Given the description of an element on the screen output the (x, y) to click on. 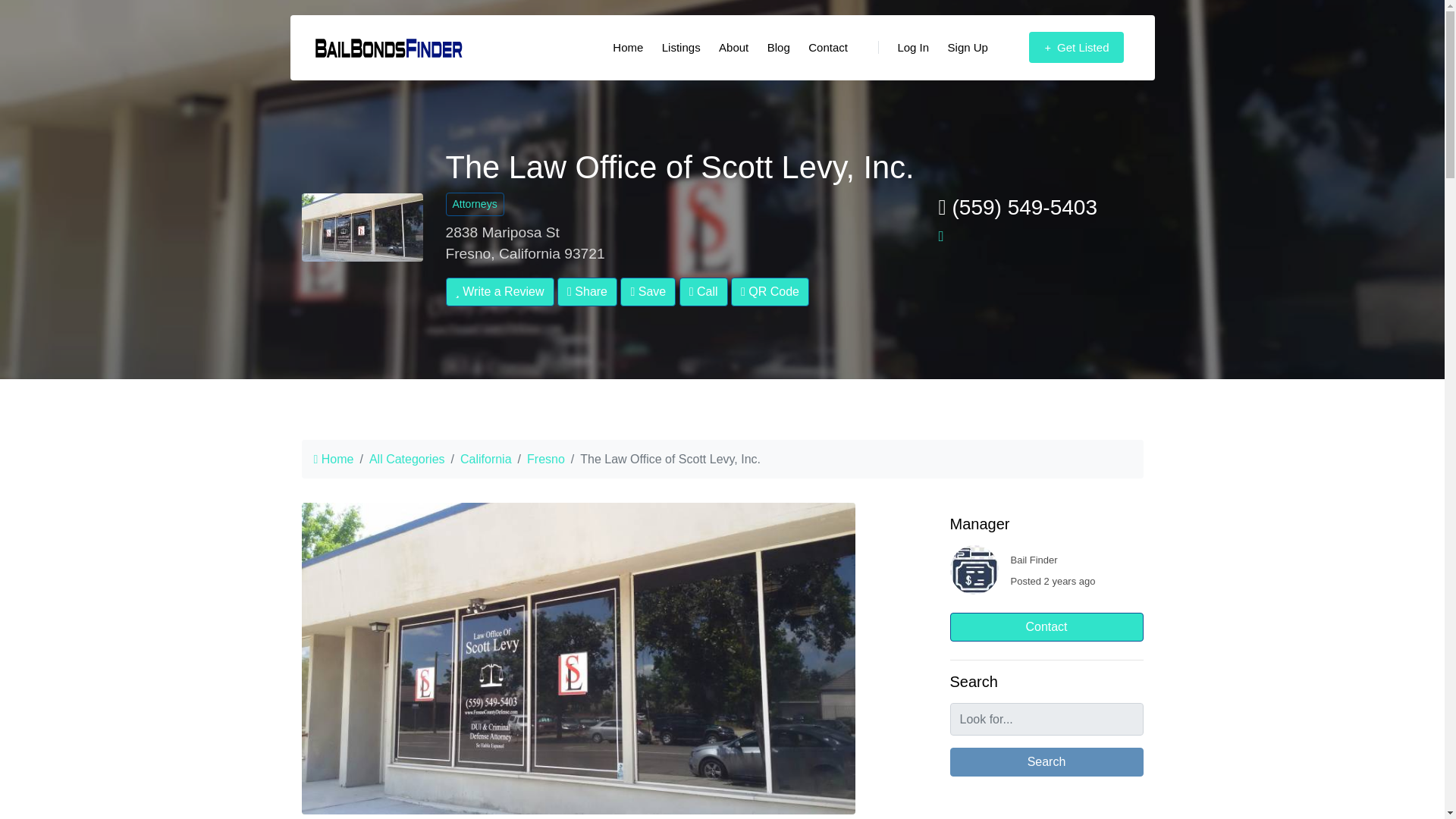
Contact (828, 47)
Home (333, 459)
Call (703, 291)
Share (587, 291)
Save (647, 291)
Search (1045, 761)
California (486, 459)
QR Code (769, 291)
Fresno (545, 459)
Home (627, 47)
About (733, 47)
Log In (903, 47)
Get Listed (1076, 47)
All Categories (407, 459)
Write a Review (499, 291)
